Given the description of an element on the screen output the (x, y) to click on. 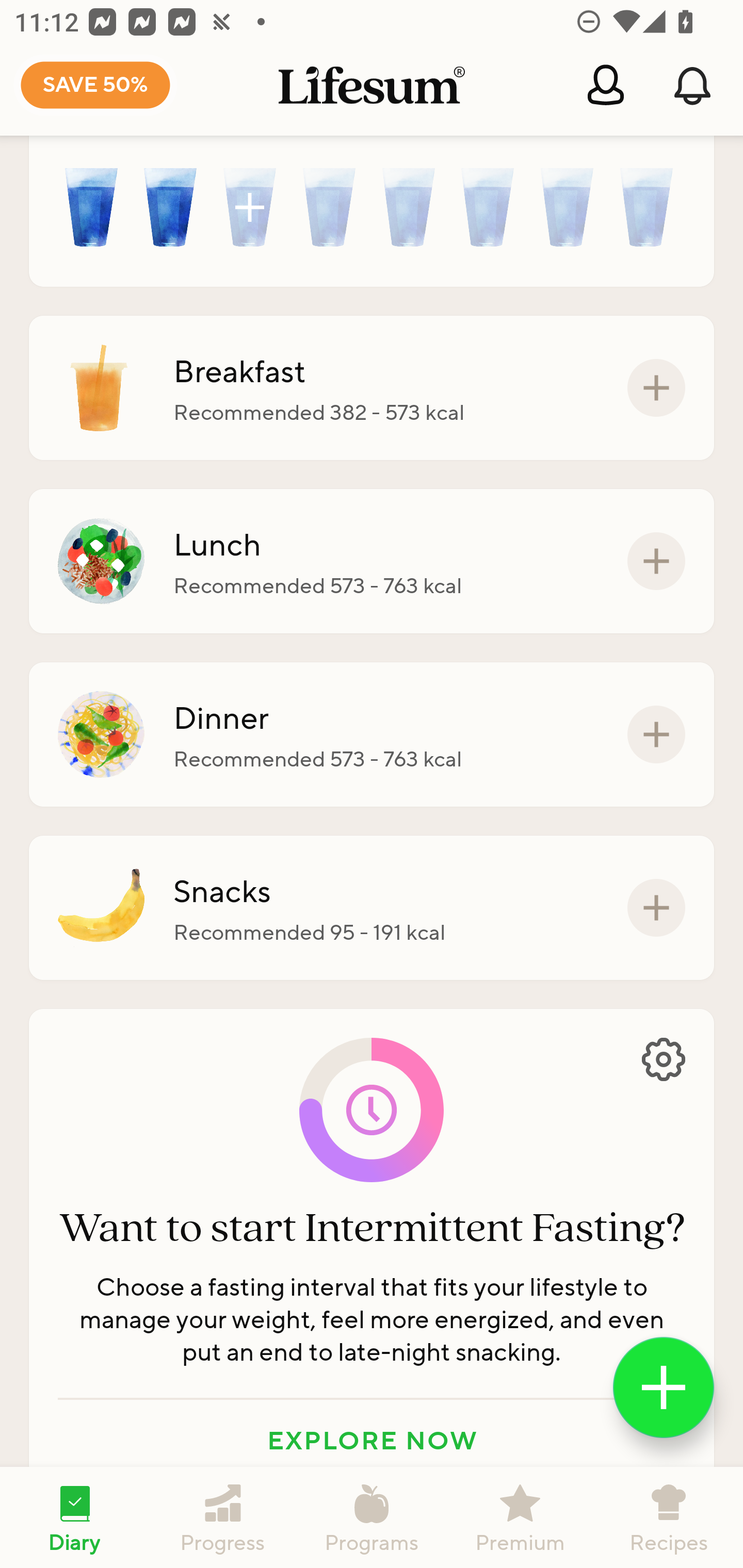
Breakfast Recommended 382 - 573 kcal (371, 387)
Lunch Recommended 573 - 763 kcal (371, 561)
Dinner Recommended 573 - 763 kcal (371, 733)
Snacks Recommended 95 - 191 kcal (371, 907)
EXPLORE NOW (371, 1440)
Progress (222, 1517)
Programs (371, 1517)
Premium (519, 1517)
Recipes (668, 1517)
